Given the description of an element on the screen output the (x, y) to click on. 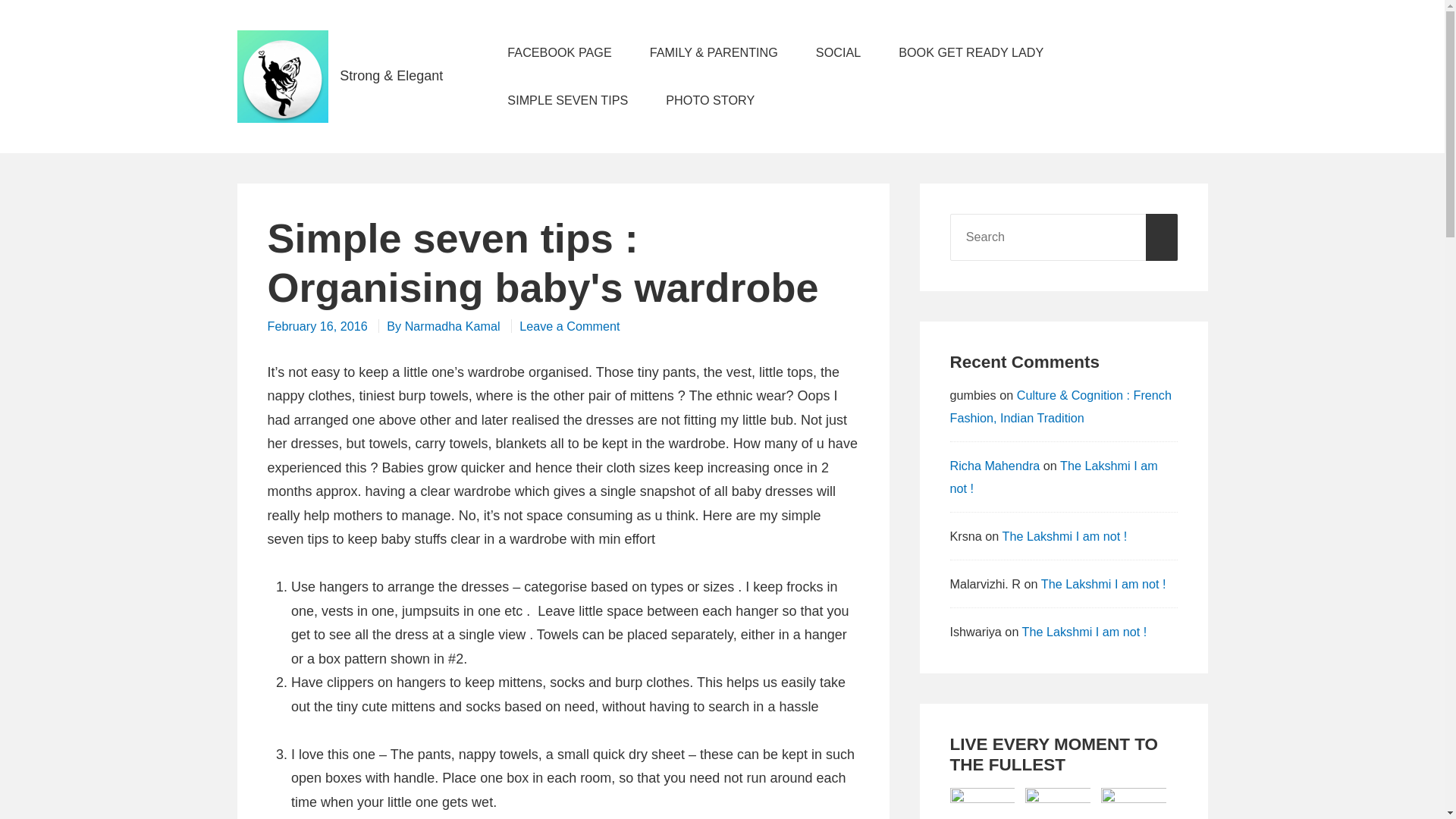
February 16, 2016 (318, 325)
Tigressandbutterfly (466, 80)
PHOTO STORY (710, 100)
Search for: (1062, 237)
By Narmadha Kamal (445, 325)
FACEBOOK PAGE (559, 52)
BOOK GET READY LADY (977, 52)
SOCIAL (837, 52)
SIMPLE SEVEN TIPS (567, 100)
